Given the description of an element on the screen output the (x, y) to click on. 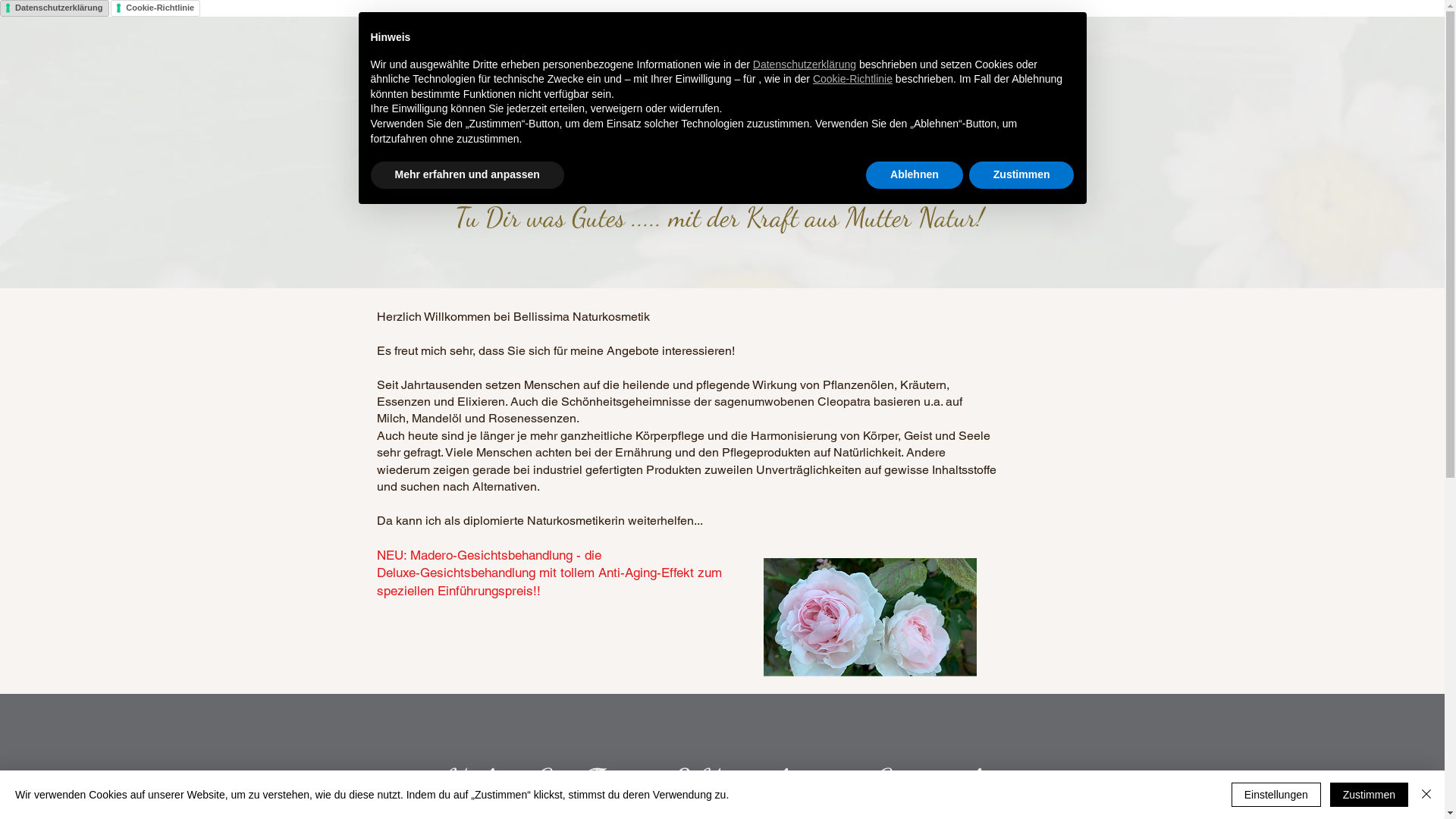
Einstellungen Element type: text (1276, 794)
Zustimmen Element type: text (1021, 174)
Angebote Element type: text (741, 54)
Zustimmen Element type: text (1369, 794)
Ablehnen Element type: text (914, 174)
Cookie-Richtlinie Element type: text (155, 8)
Cookie-Richtlinie Element type: text (852, 78)
Mehr erfahren und anpassen Element type: text (466, 174)
